Given the description of an element on the screen output the (x, y) to click on. 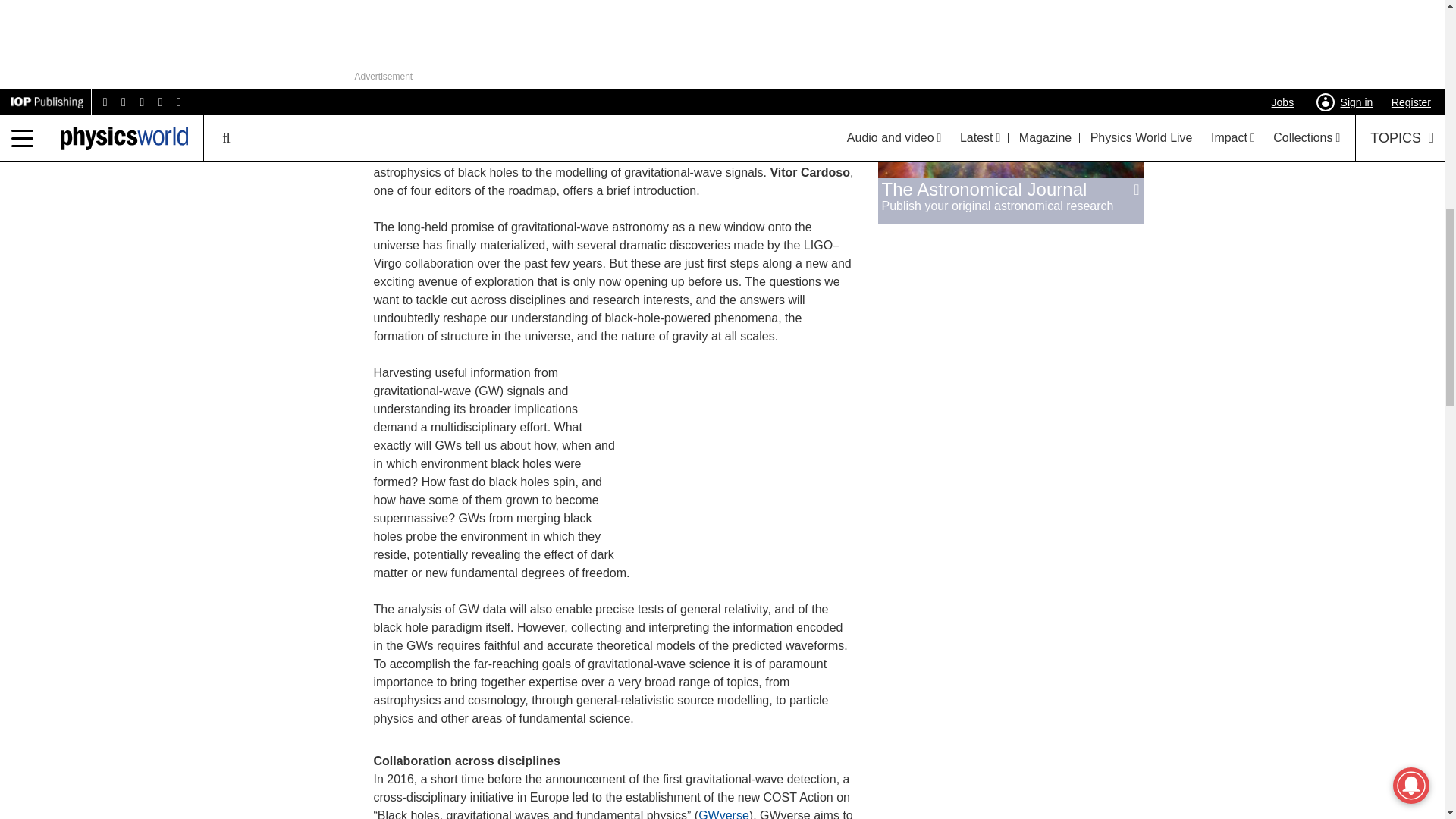
3rd party ad content (1010, 4)
3rd party ad content (740, 458)
